Given the description of an element on the screen output the (x, y) to click on. 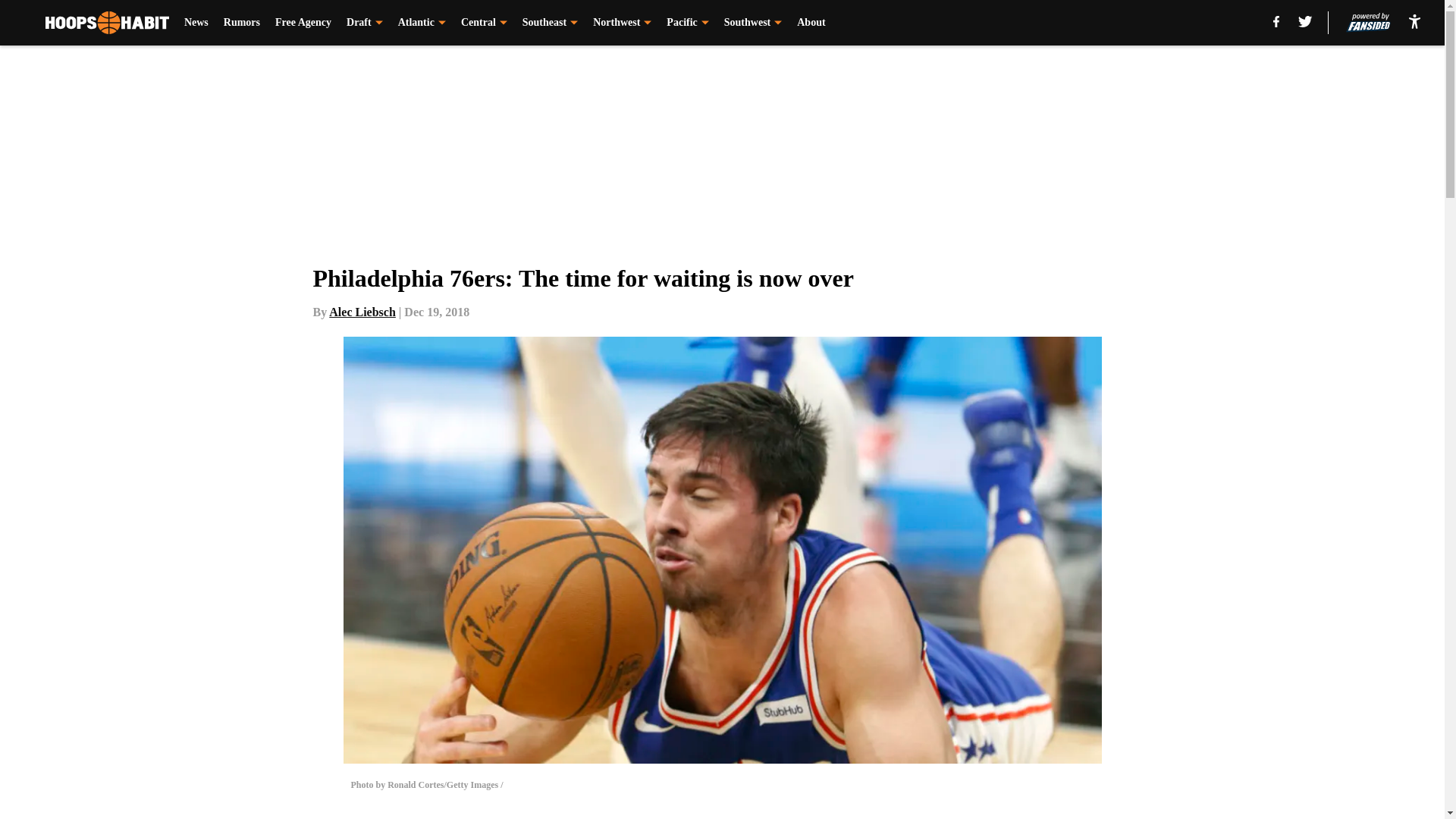
Central (483, 22)
Atlantic (421, 22)
Southeast (550, 22)
Draft (364, 22)
Northwest (621, 22)
Rumors (242, 22)
News (196, 22)
Free Agency (303, 22)
